Given the description of an element on the screen output the (x, y) to click on. 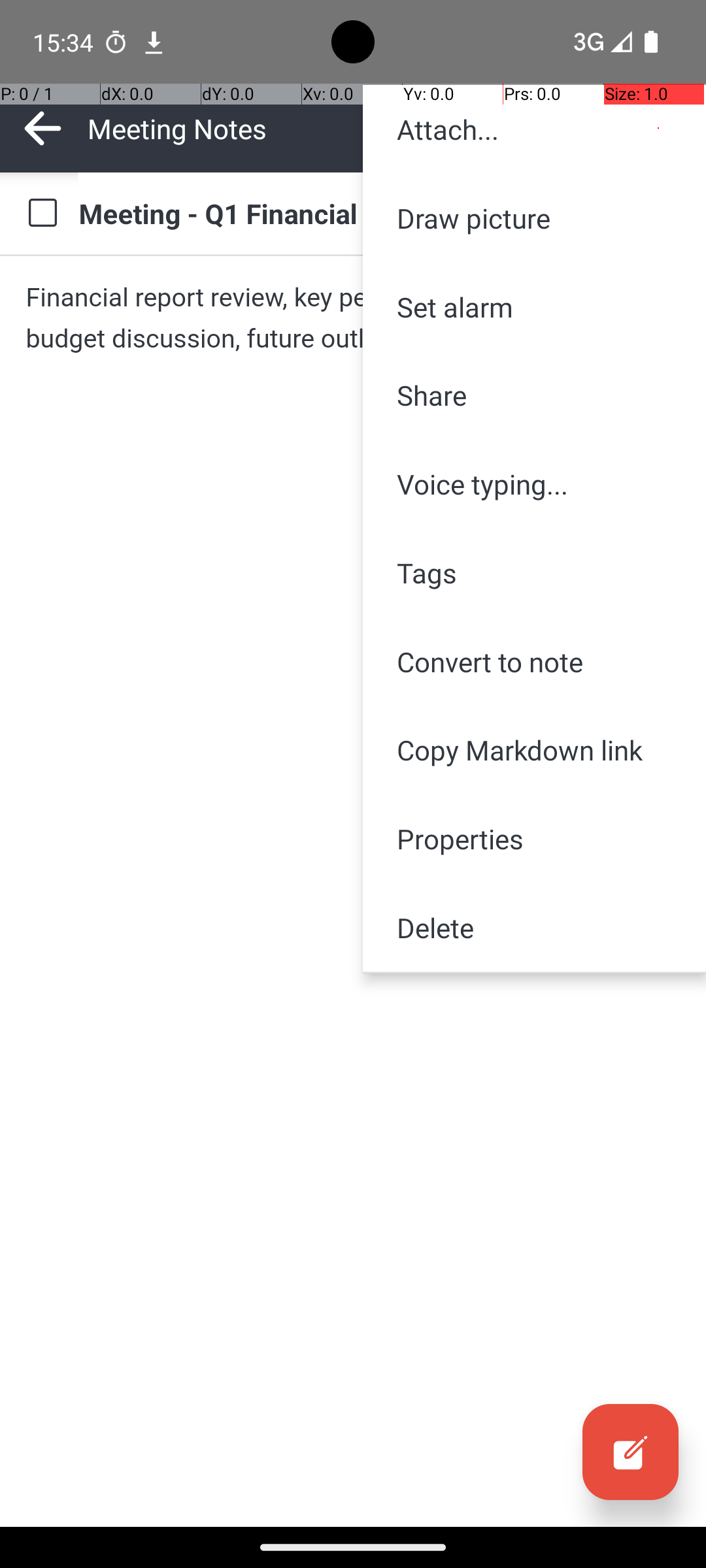
Board Meeting - Q1 Financial Results - March 28, 2024 Element type: android.widget.EditText (378, 213)
Financial report review, key performance indicators, budget discussion, future outlook. Element type: android.widget.TextView (352, 317)
